Given the description of an element on the screen output the (x, y) to click on. 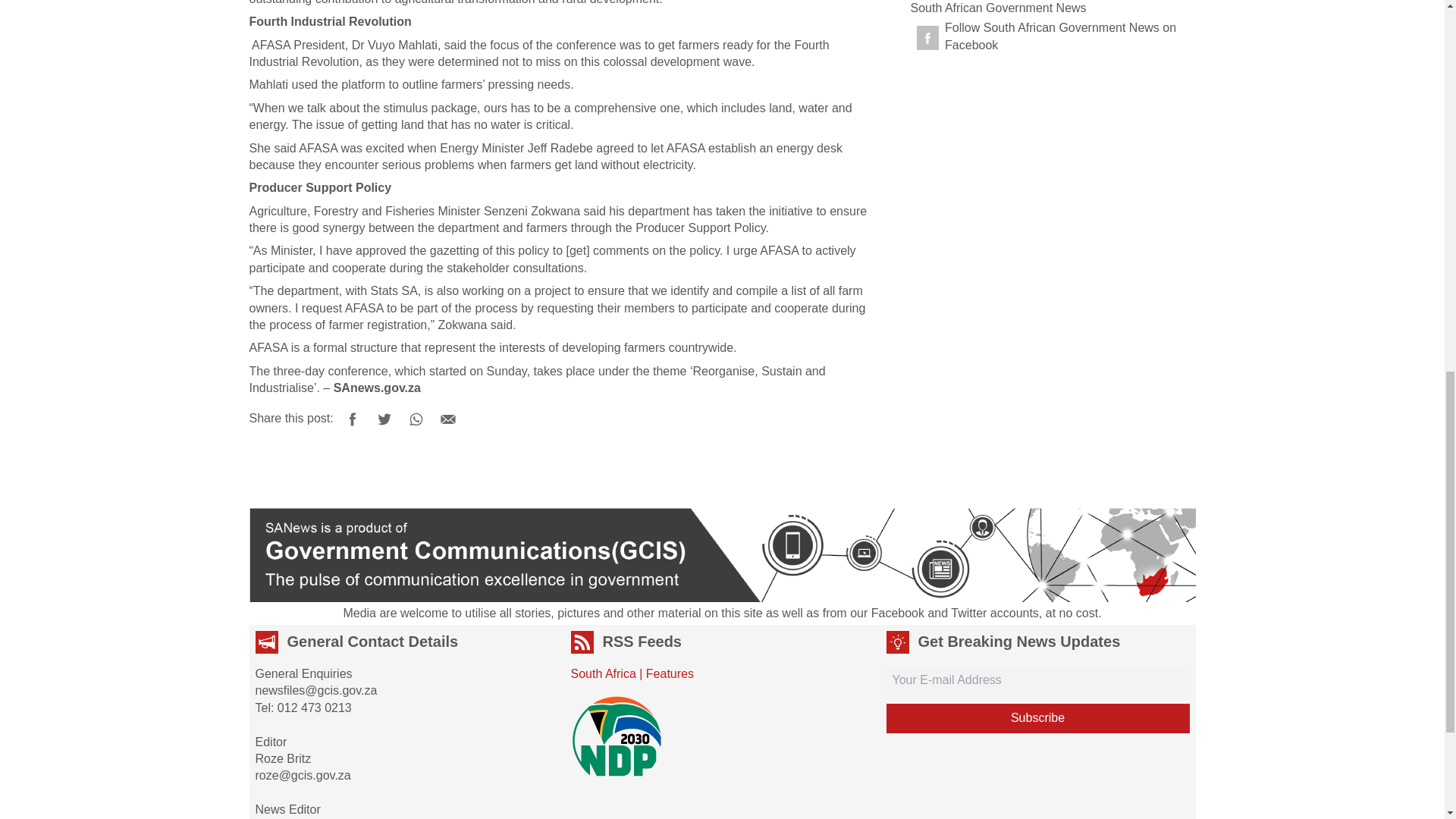
Subscribe (1037, 717)
Features (670, 673)
Share on WhatsApp (416, 418)
Subscribe (1037, 717)
Follow South African Government News on Facebook (1049, 36)
Share on Facebook (352, 418)
South African Government News (998, 7)
Share by Email (448, 418)
Share on Twitter (384, 418)
South Africa (602, 673)
